Given the description of an element on the screen output the (x, y) to click on. 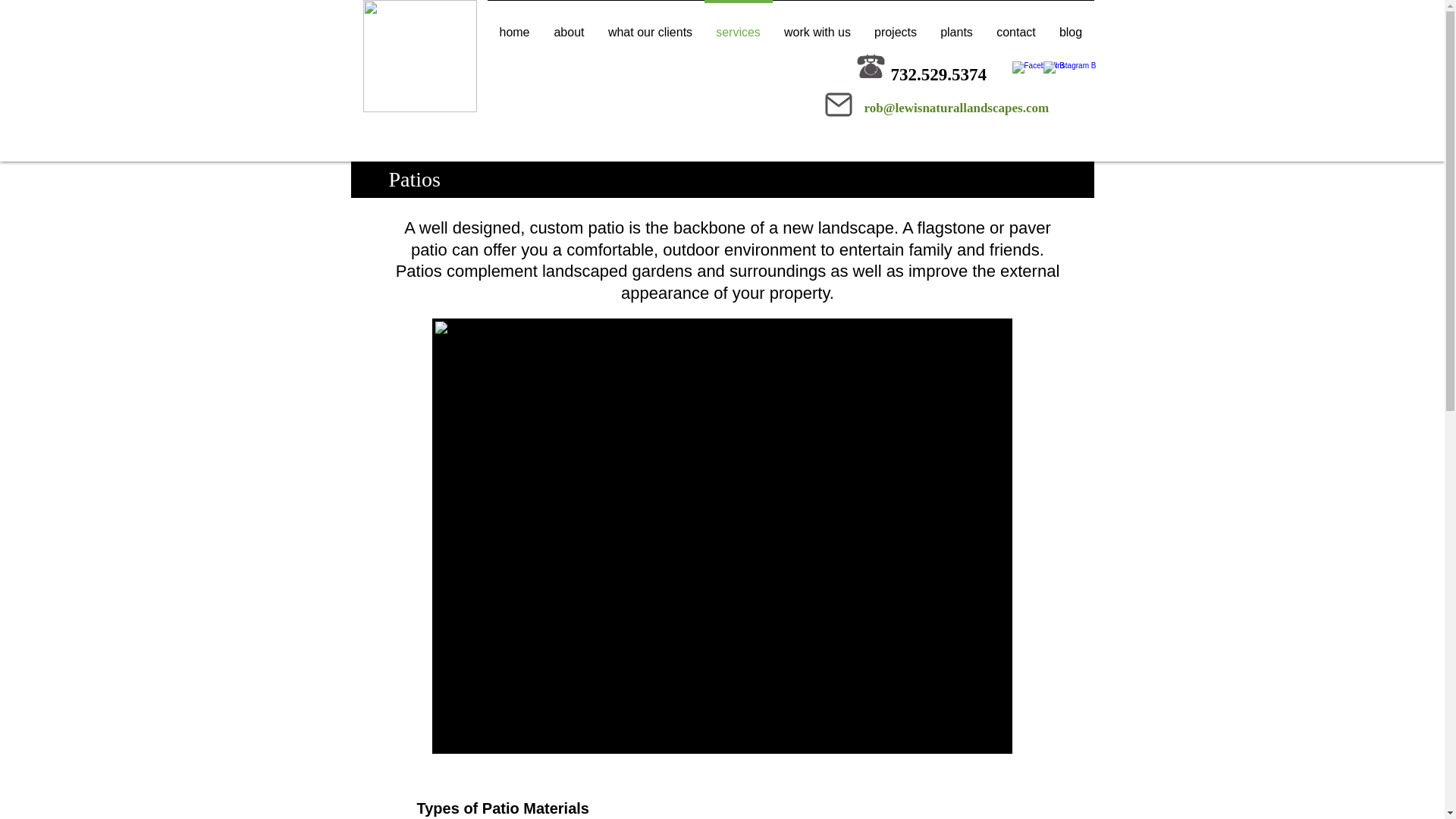
about (568, 25)
home (513, 25)
what our clients (649, 25)
blog (1071, 25)
projects (895, 25)
services (737, 25)
plants (956, 25)
contact (1015, 25)
work with us (816, 25)
